Given the description of an element on the screen output the (x, y) to click on. 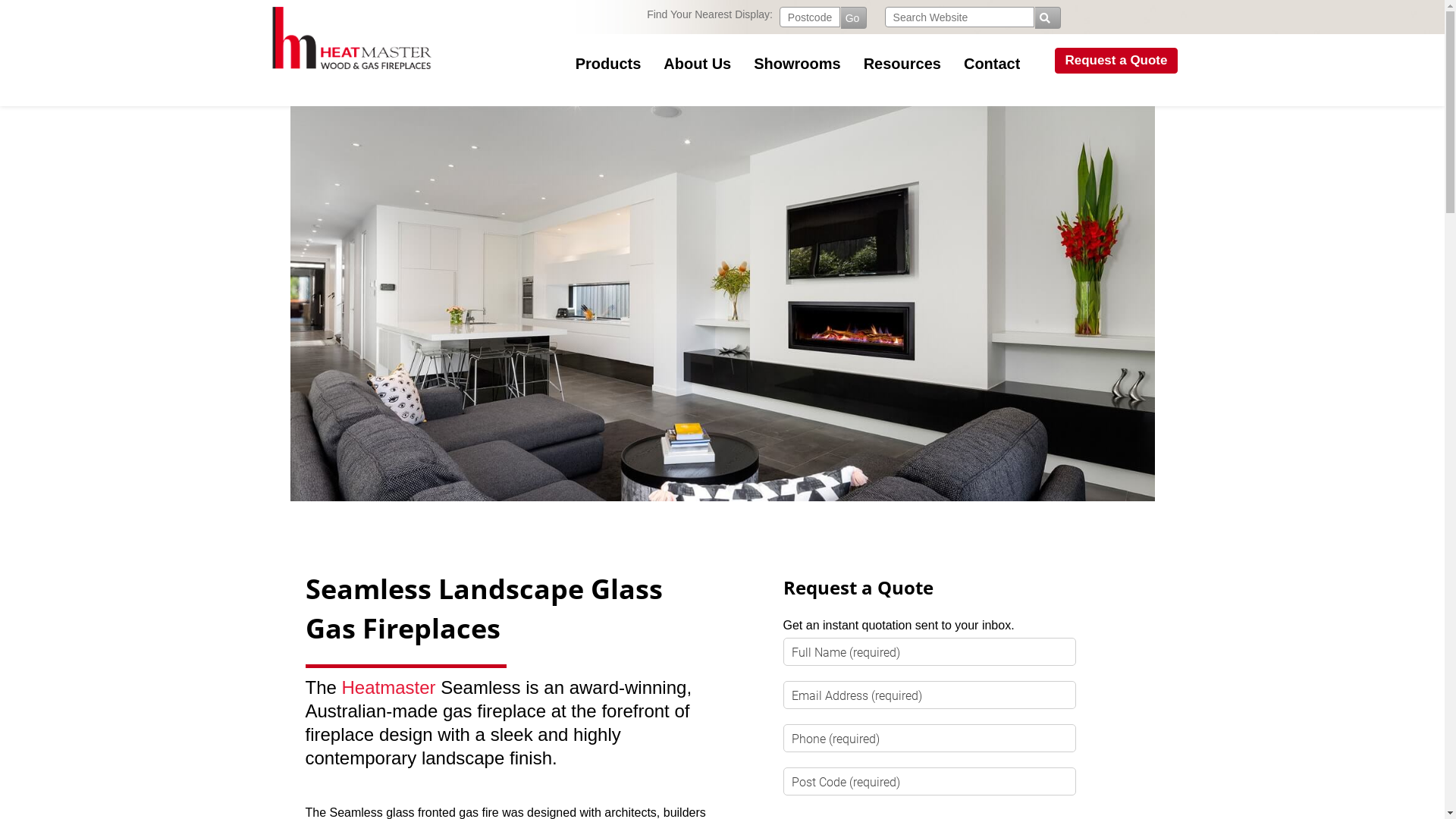
About Us Element type: text (685, 63)
Showrooms Element type: text (785, 63)
Go Element type: text (853, 17)
Contact Element type: text (980, 63)
Request a Quote Element type: text (1097, 60)
Heat Master Element type: hover (352, 37)
Heat Master Element type: hover (352, 71)
Products Element type: text (596, 63)
Resources Element type: text (890, 63)
Heatmaster Element type: text (389, 687)
